Given the description of an element on the screen output the (x, y) to click on. 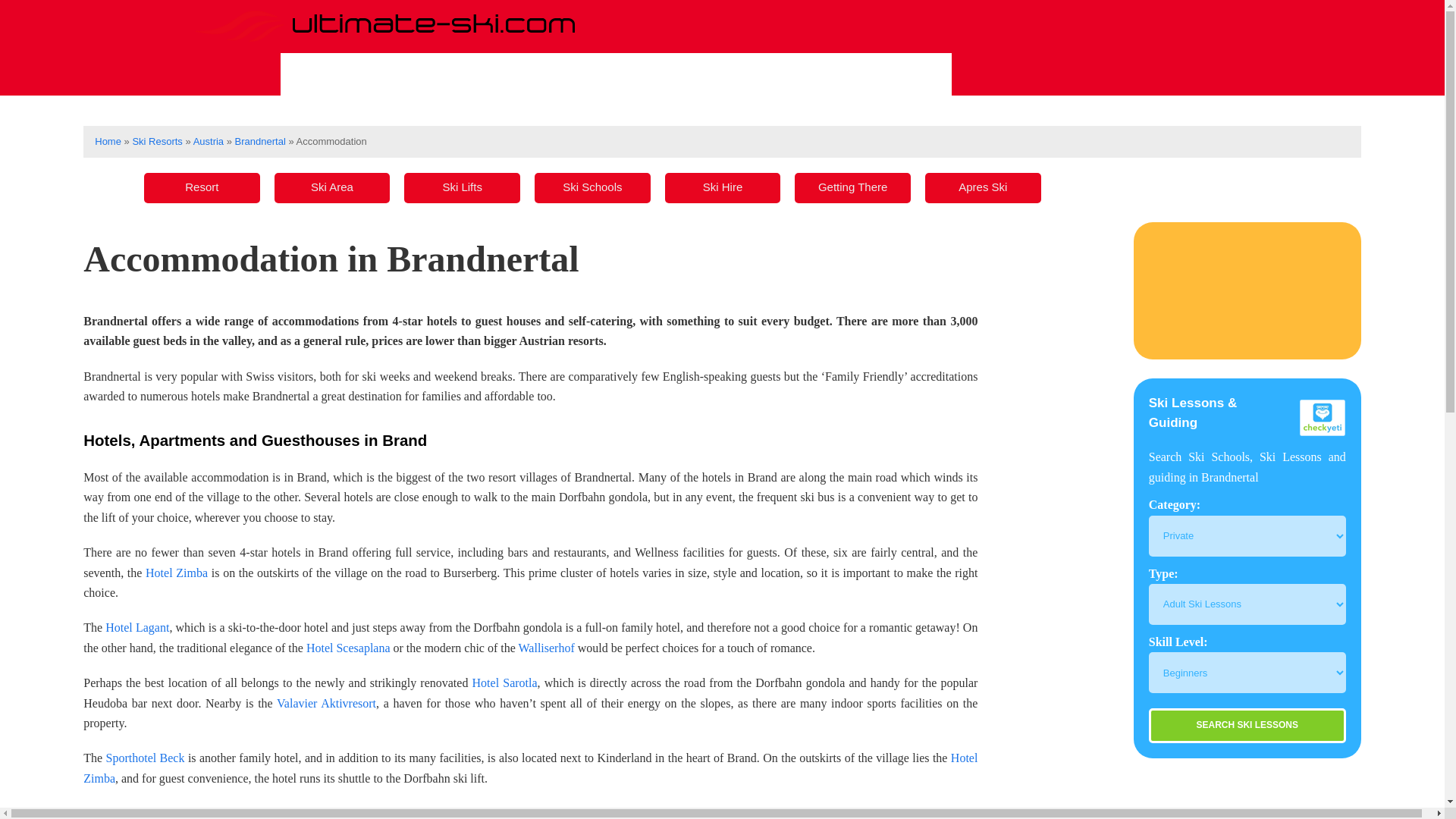
Hotel Sarotla (504, 682)
Ski Resorts (351, 74)
Sporthotel Beck Brandnertal (145, 757)
Ski Schools (591, 187)
Ski Resorts (157, 141)
Hotel Zimba (176, 572)
Features (729, 74)
Valavier Aktivresort Hotel Brandnertal (325, 703)
Hotel Walliserhof Brandnertal (546, 647)
Hotel Scesaplana Brandnertal (347, 647)
Hotel Scesaplana (347, 647)
Search Ski Lessons (1246, 725)
Walliserhof (546, 647)
Getting There (852, 187)
Accommodation (867, 74)
